Given the description of an element on the screen output the (x, y) to click on. 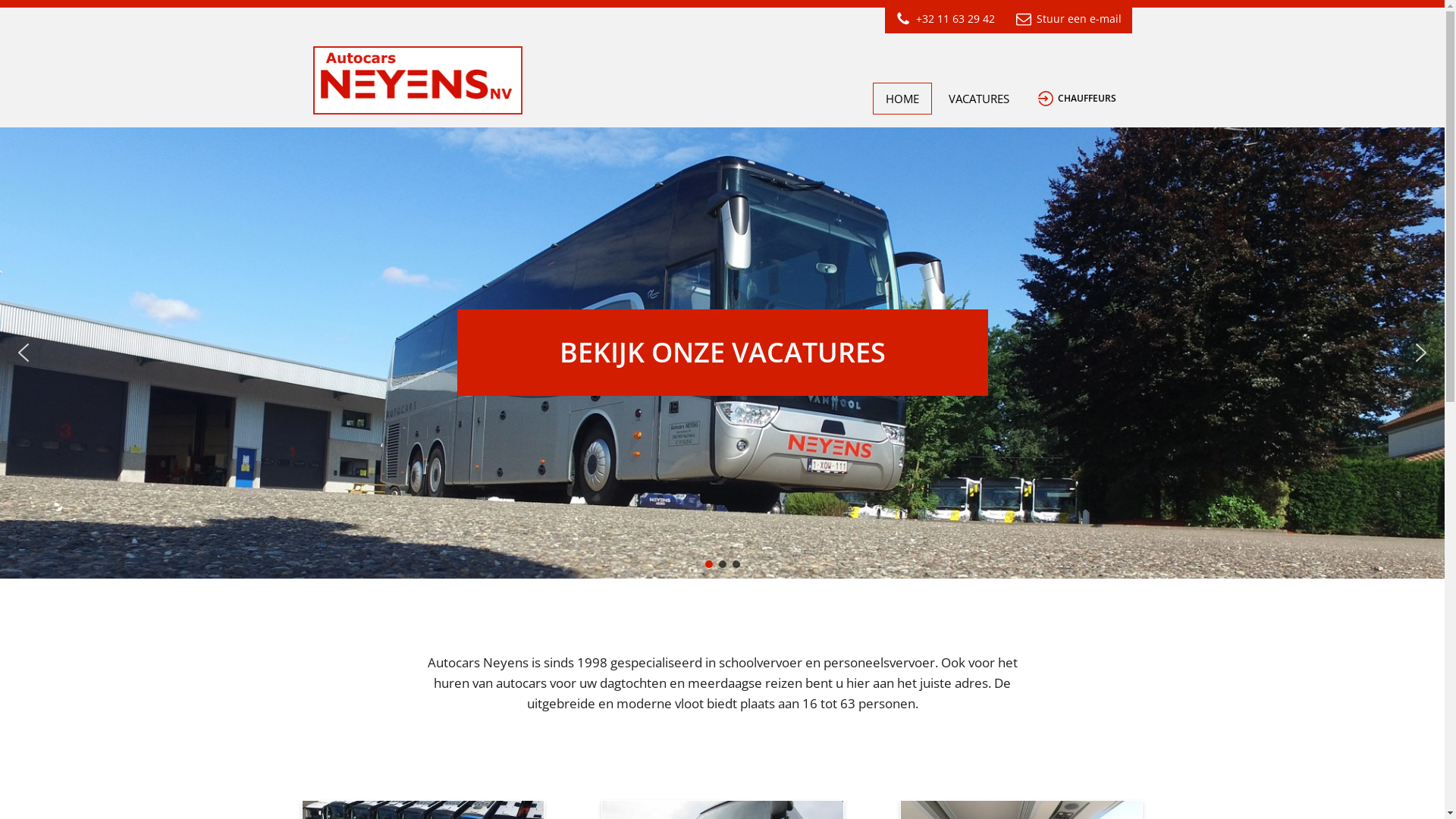
VACATURES Element type: text (978, 98)
HOME Element type: text (901, 98)
Stuur een e-mail Element type: text (1068, 19)
BEKIJK ONZE VACATURES Element type: text (721, 352)
+32 11 63 29 42 Element type: text (944, 19)
CHAUFFEURS Element type: text (1076, 98)
